Given the description of an element on the screen output the (x, y) to click on. 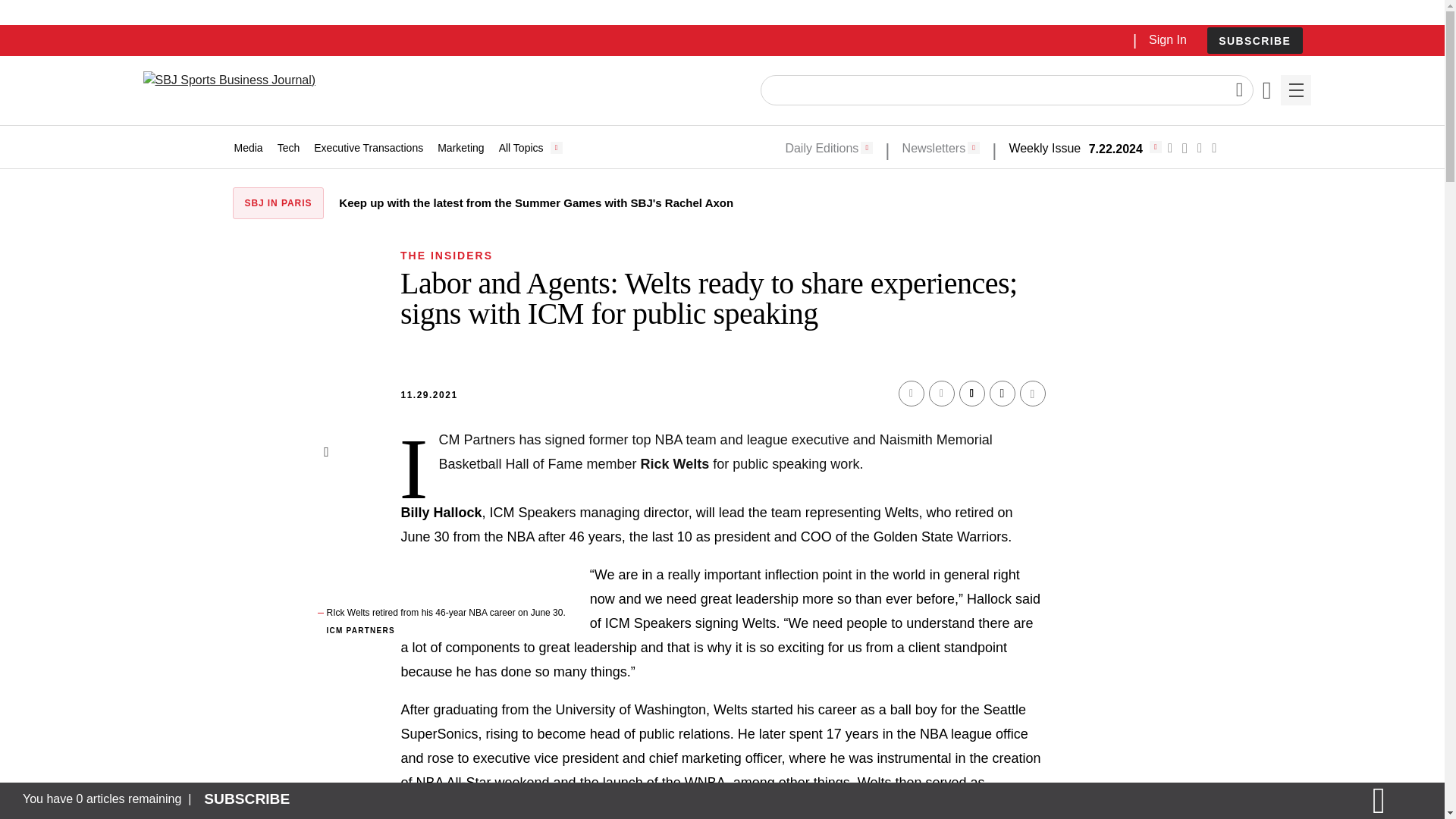
Sign In (1167, 40)
SUBSCRIBE (1254, 40)
Menu (1294, 90)
SIGN IN (1194, 324)
SUBSCRIBE (1255, 40)
